Given the description of an element on the screen output the (x, y) to click on. 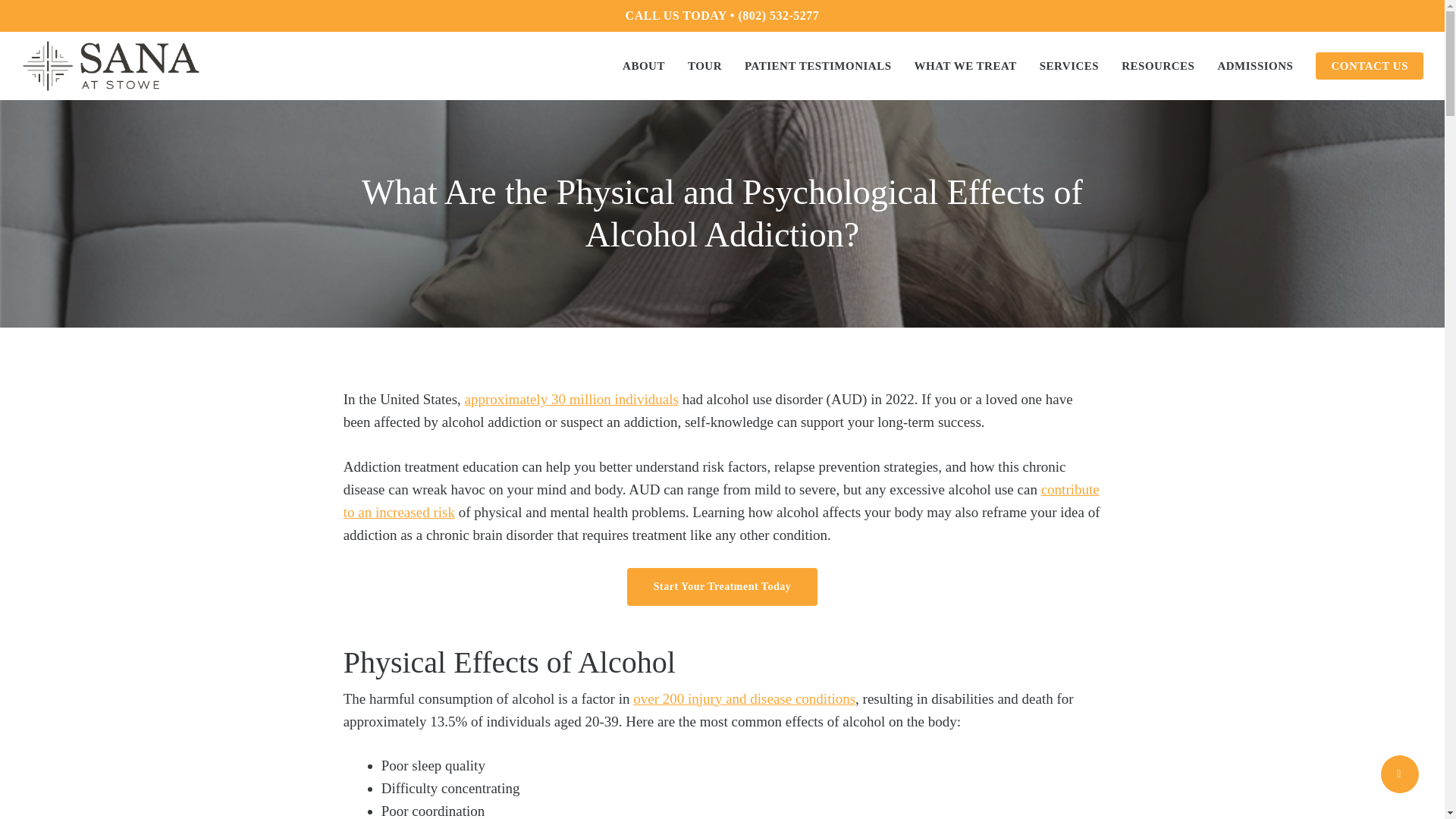
WHAT WE TREAT (964, 65)
TOUR (705, 65)
PATIENT TESTIMONIALS (817, 65)
ABOUT (644, 65)
SERVICES (1068, 65)
